Given the description of an element on the screen output the (x, y) to click on. 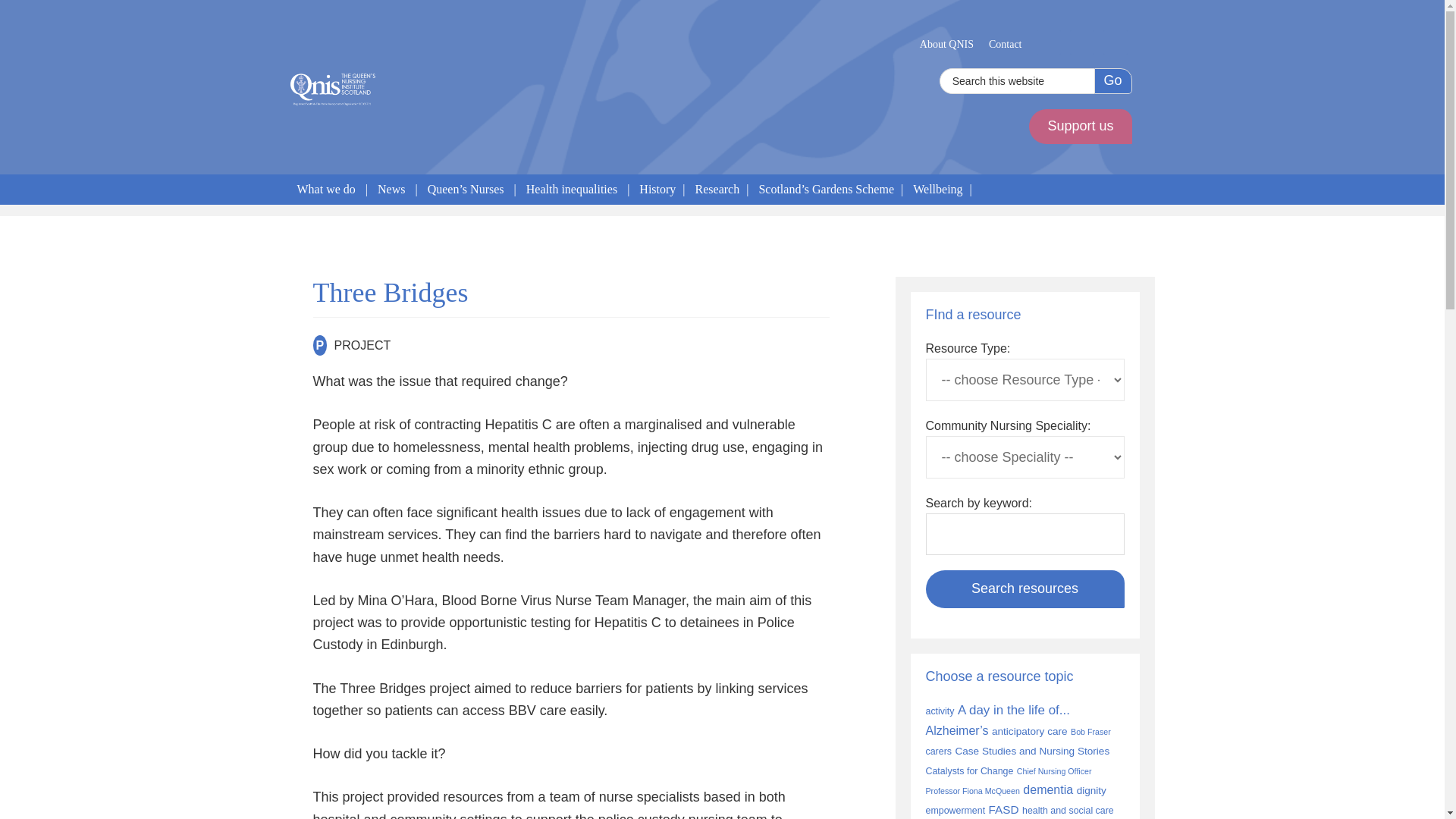
History (656, 189)
Twitter (1080, 42)
The Queen's Nursing Institute Scotland (332, 88)
Go (1112, 80)
Health inequalities (571, 189)
Support us (1080, 125)
About QNIS (946, 44)
YouTube (1114, 42)
Go (1112, 80)
Project (319, 344)
E-mail (1048, 42)
Research (717, 189)
What we do (325, 189)
Contact (1004, 44)
